Given the description of an element on the screen output the (x, y) to click on. 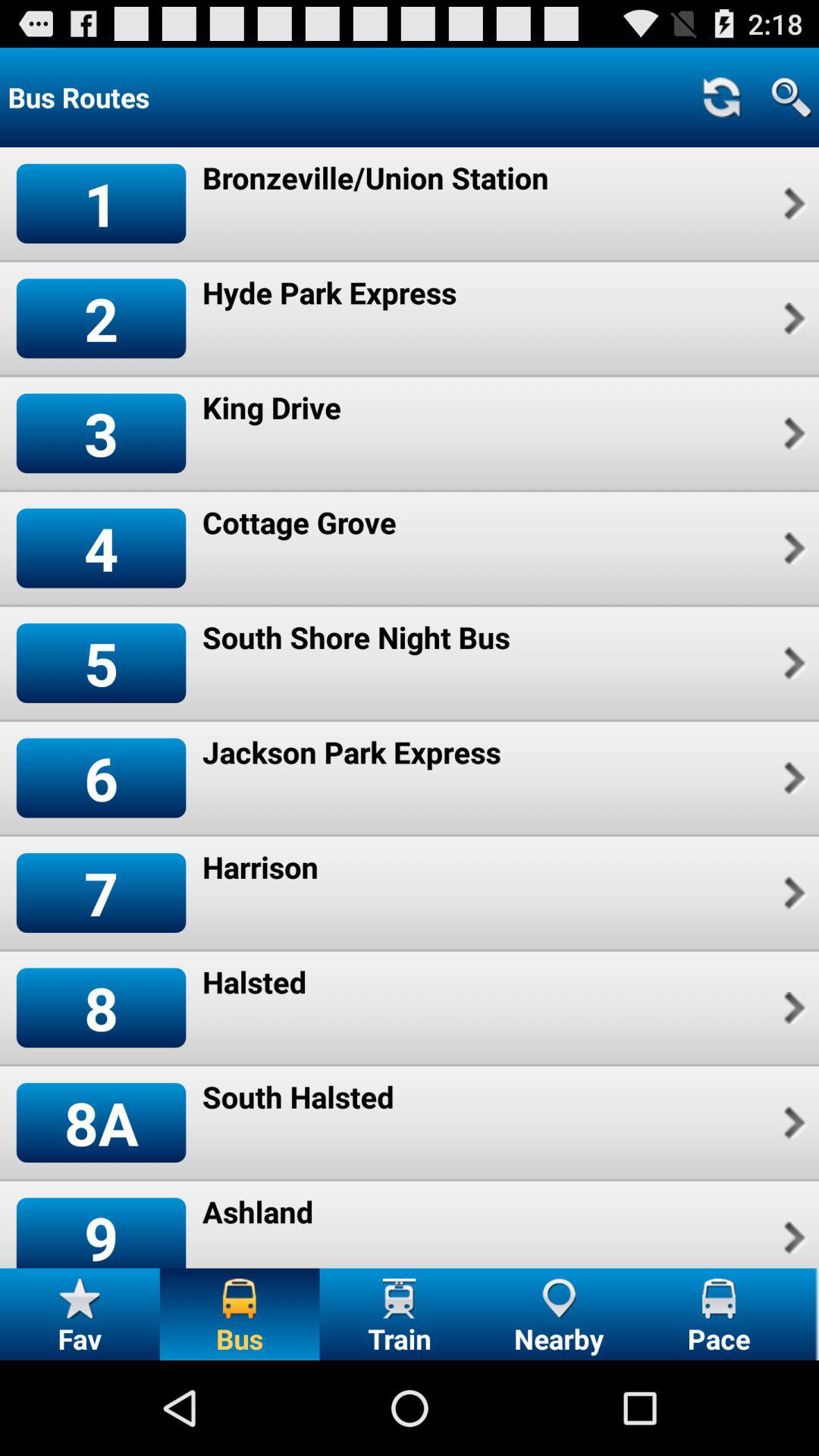
scroll to the 3 item (100, 433)
